Given the description of an element on the screen output the (x, y) to click on. 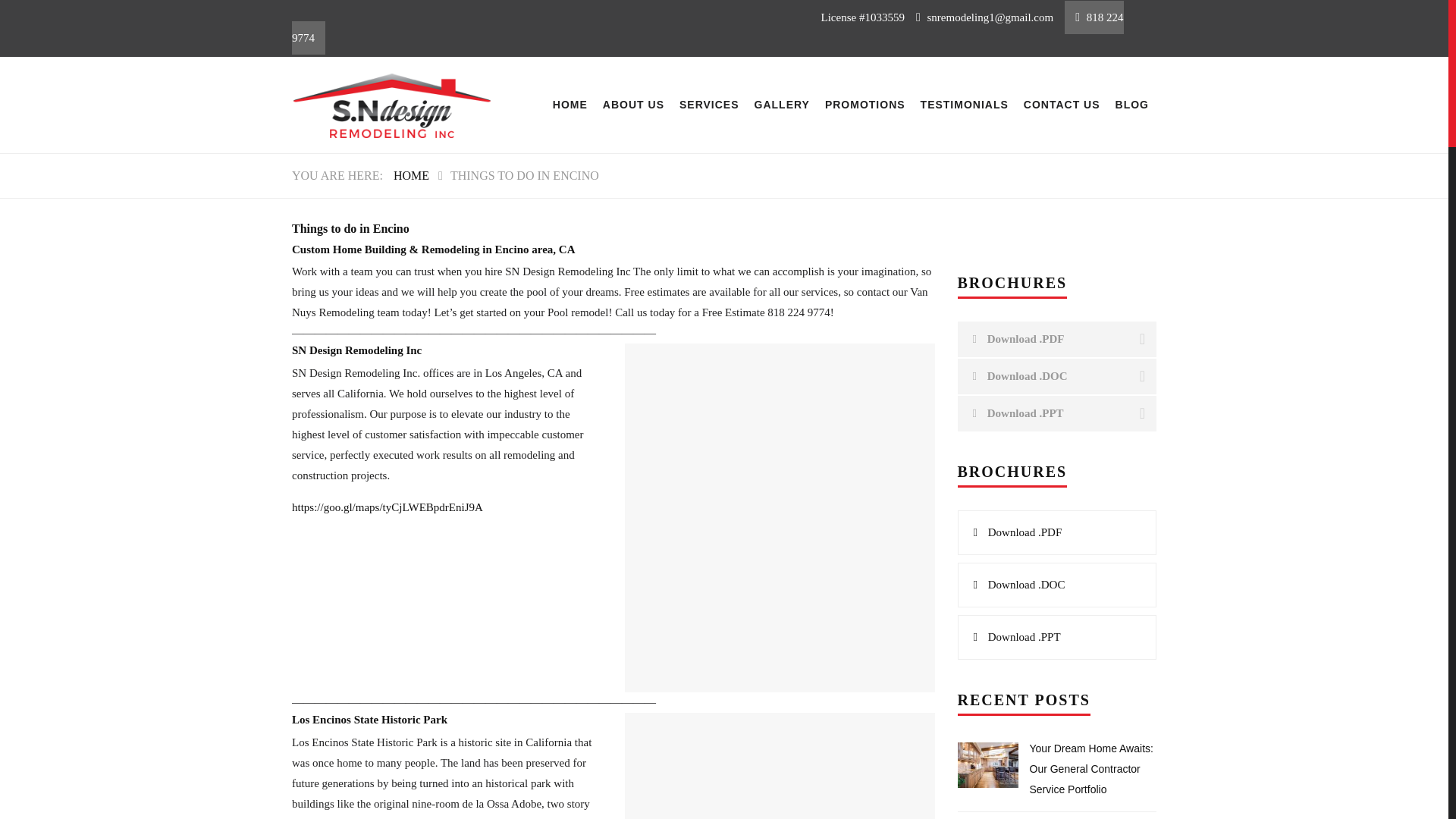
818 224 9774 (708, 27)
